Given the description of an element on the screen output the (x, y) to click on. 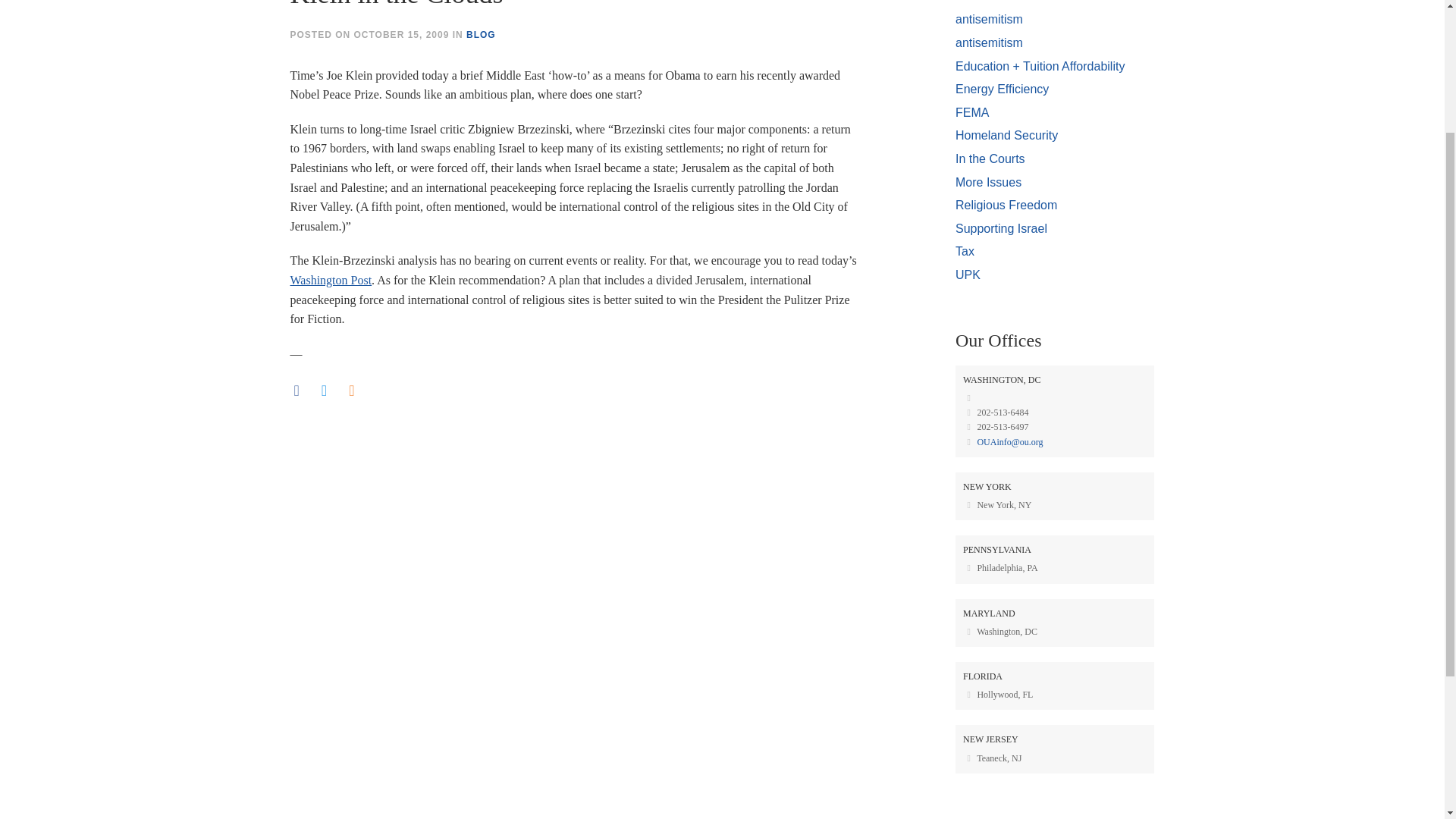
Energy Efficiency (1001, 88)
antisemitism (989, 19)
antisemitism (989, 42)
FEMA (971, 112)
BLOG (480, 34)
Washington Post (330, 279)
Washington Post (330, 279)
